Given the description of an element on the screen output the (x, y) to click on. 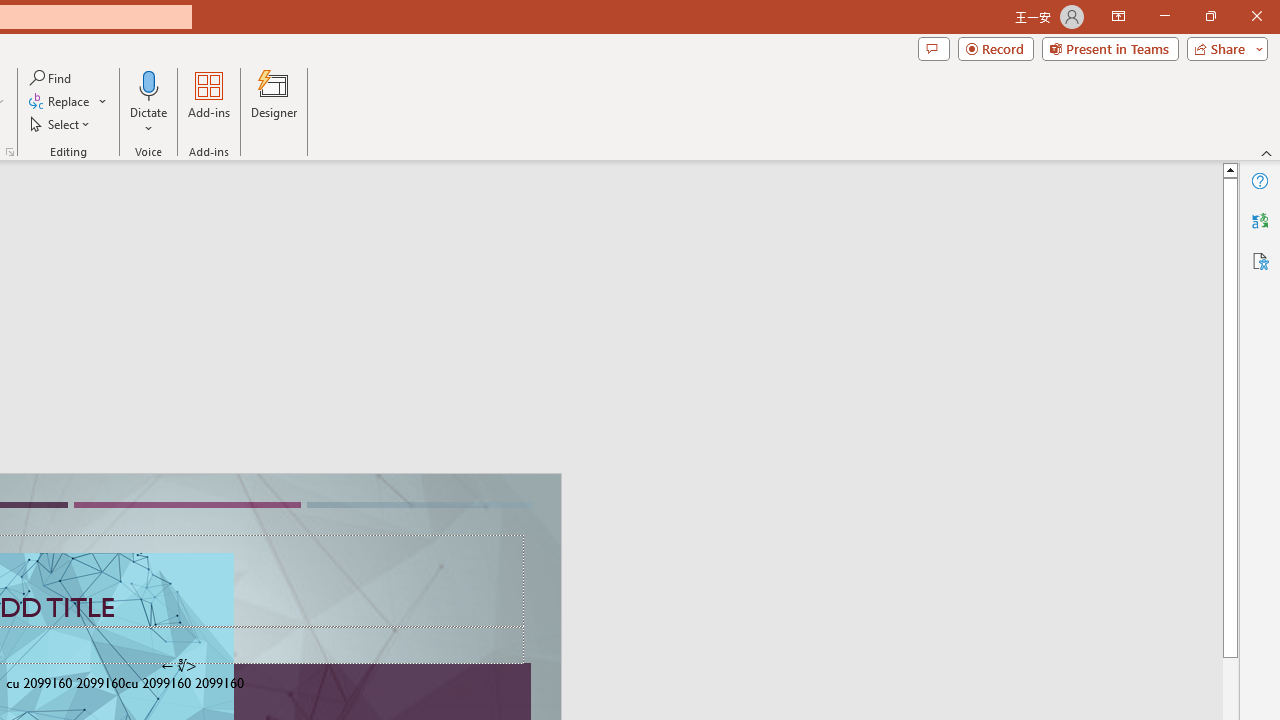
TextBox 7 (178, 666)
